Given the description of an element on the screen output the (x, y) to click on. 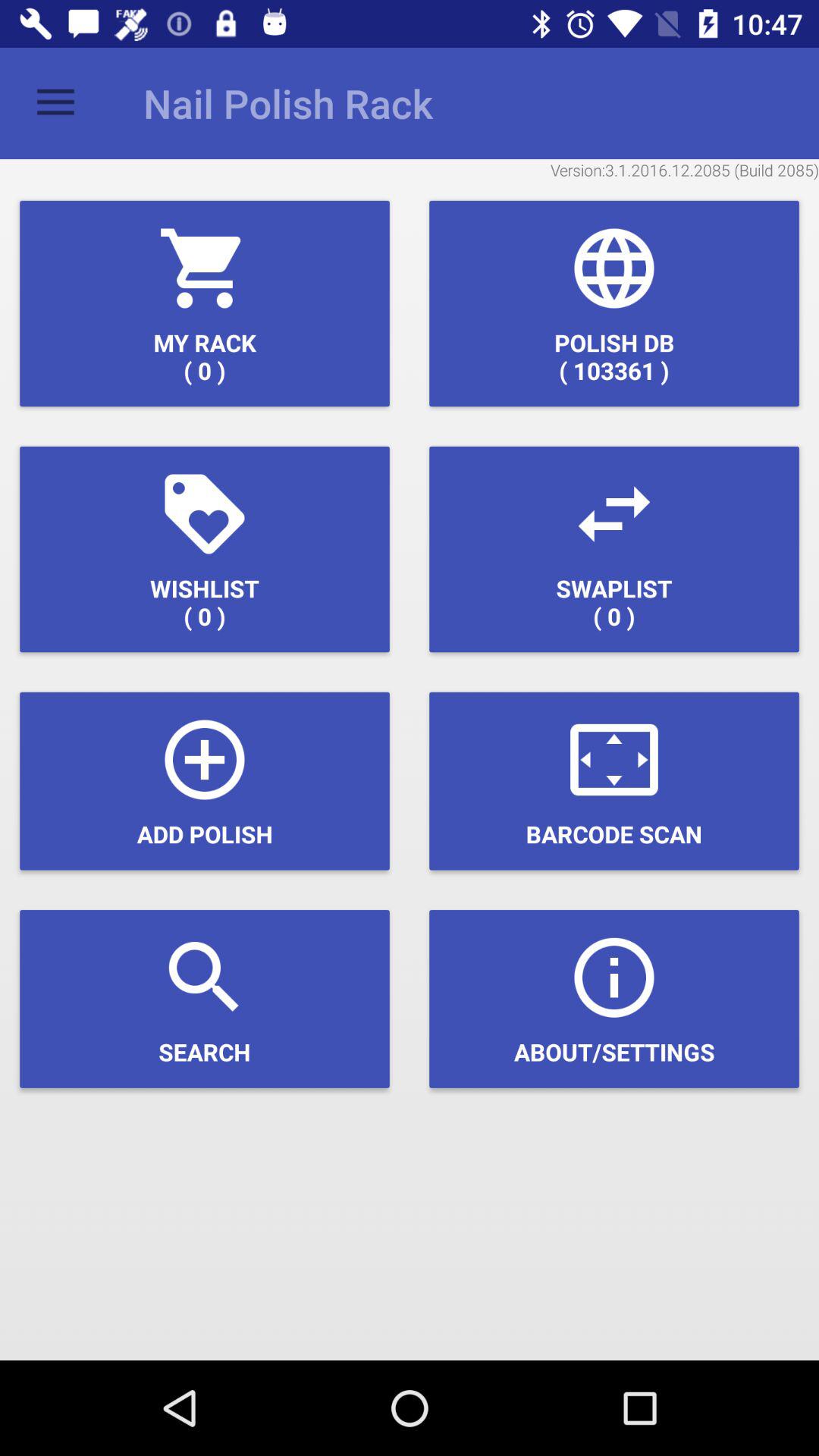
launch the icon above search icon (204, 781)
